Given the description of an element on the screen output the (x, y) to click on. 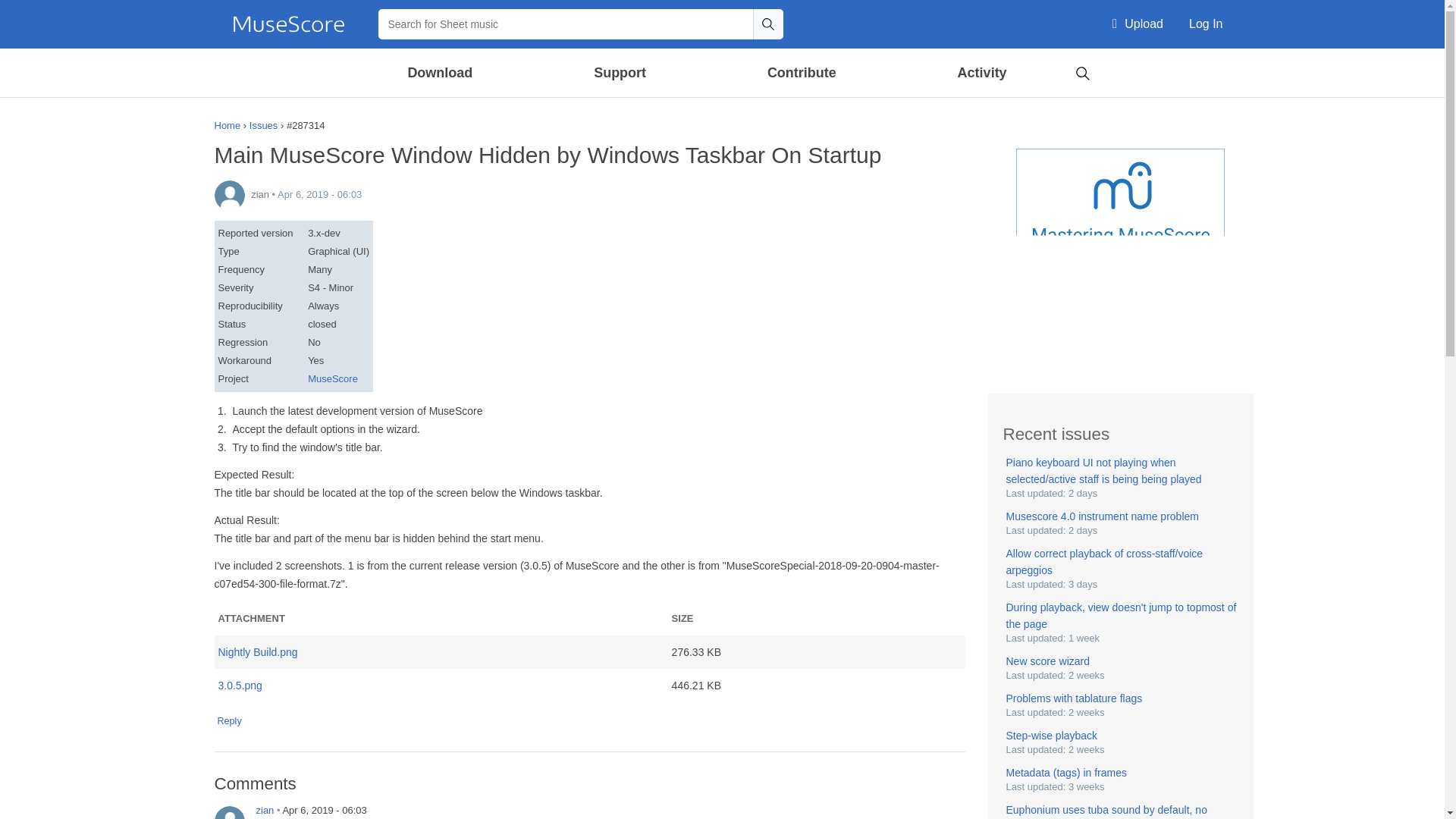
zian (229, 195)
Log In (1205, 24)
Support (619, 72)
Download (440, 72)
Activity (981, 72)
Search (767, 24)
Home (287, 23)
Contribute (801, 72)
zian (229, 812)
MuseScore (287, 23)
